Given the description of an element on the screen output the (x, y) to click on. 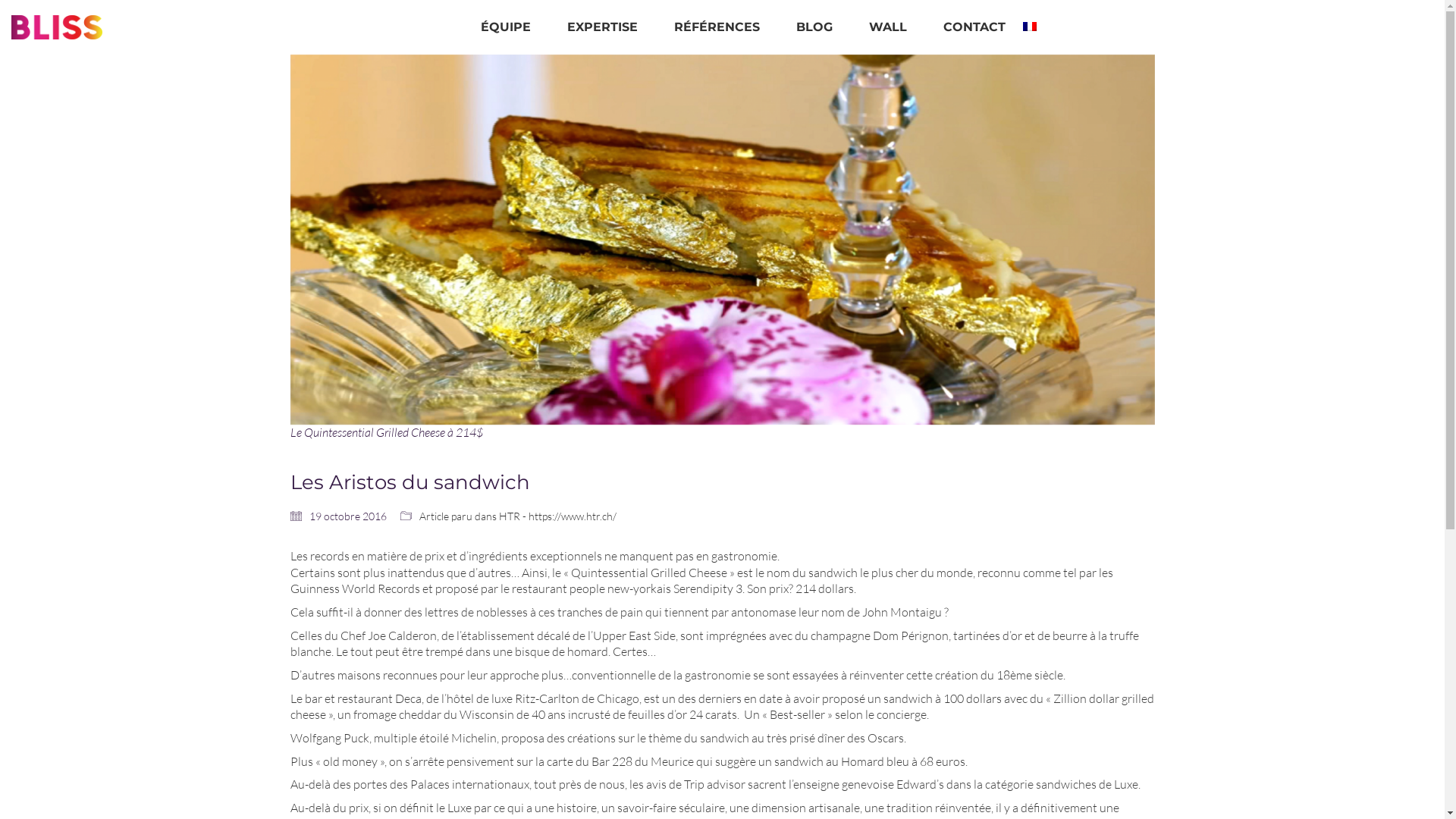
WALL Element type: text (887, 26)
EXPERTISE Element type: text (602, 26)
Article paru dans HTR - https://www.htr.ch/ Element type: text (516, 516)
CONTACT Element type: text (974, 26)
BLOG Element type: text (814, 26)
